Given the description of an element on the screen output the (x, y) to click on. 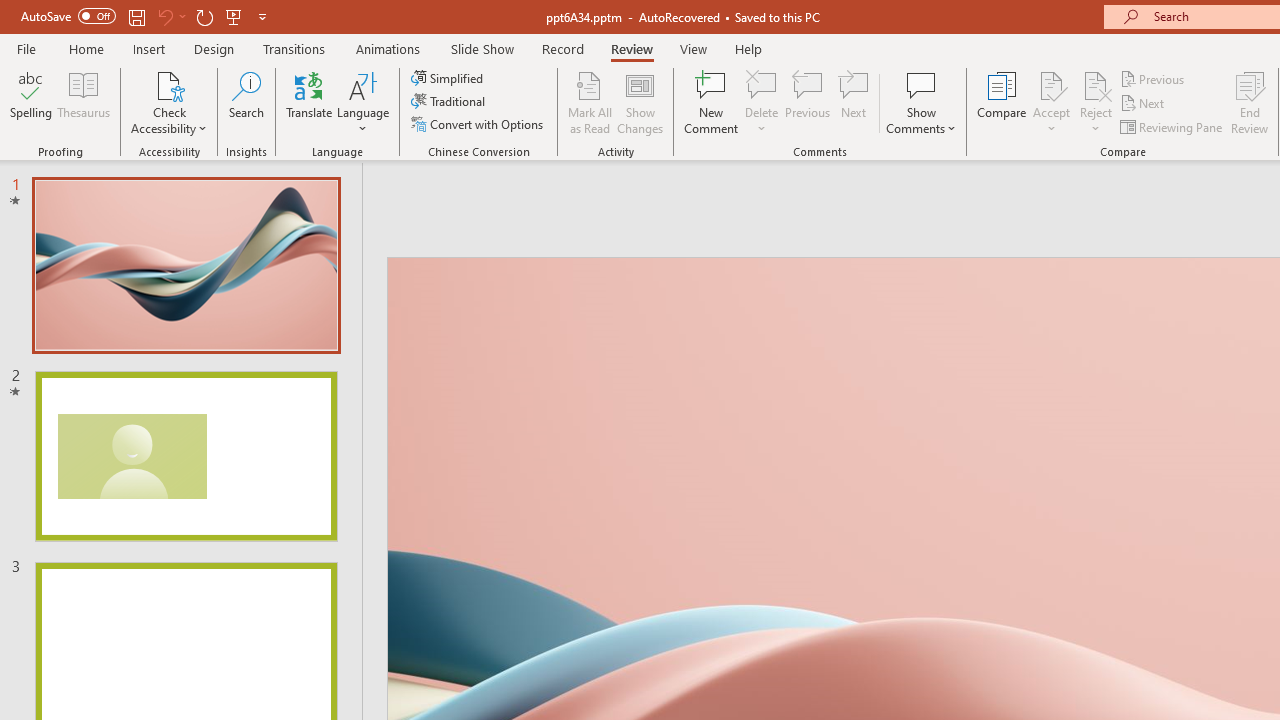
Convert with Options... (479, 124)
Accept (1051, 102)
Reject Change (1096, 84)
Thesaurus... (83, 102)
Accept Change (1051, 84)
Simplified (449, 78)
